Given the description of an element on the screen output the (x, y) to click on. 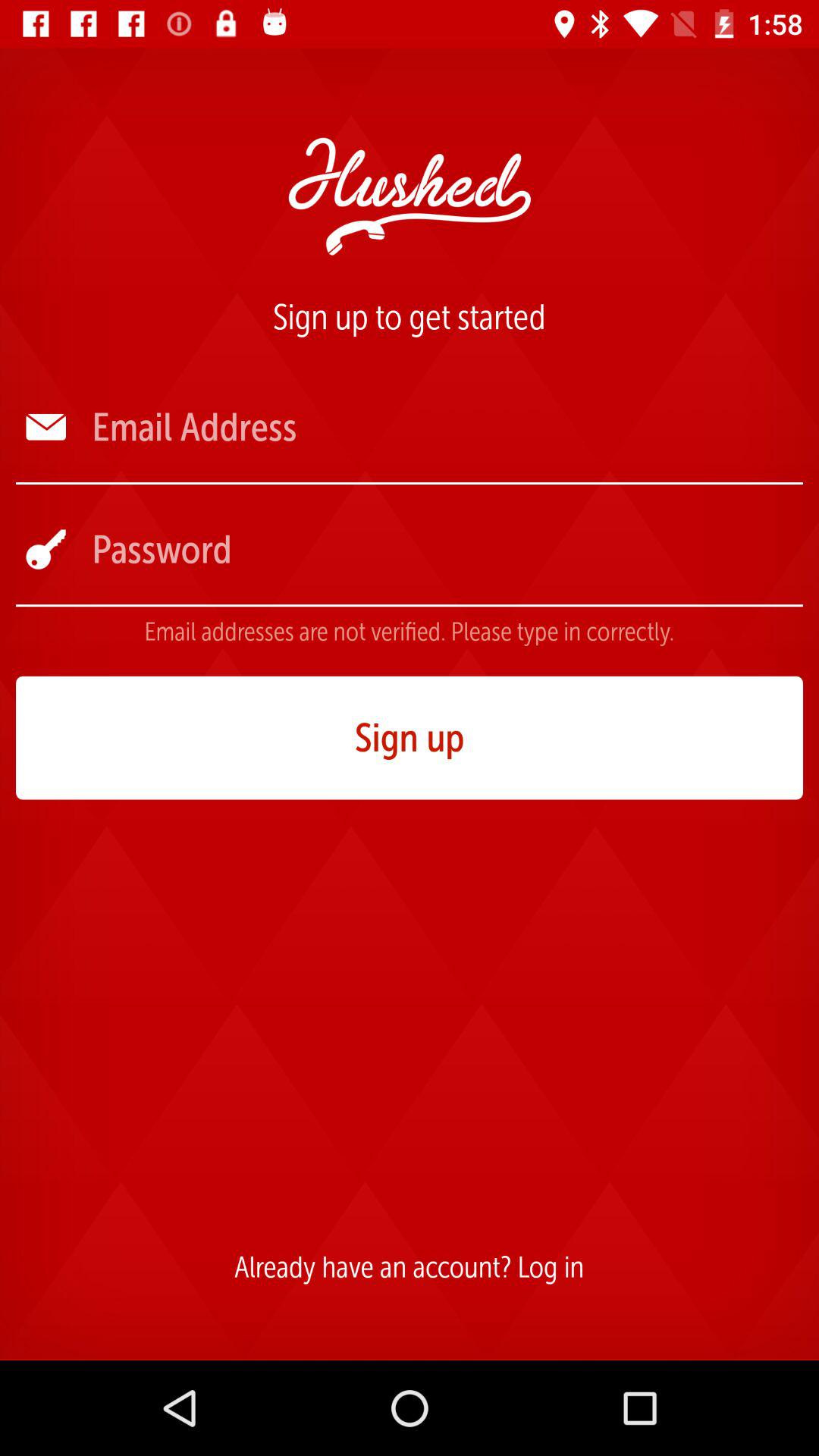
email field (446, 427)
